Given the description of an element on the screen output the (x, y) to click on. 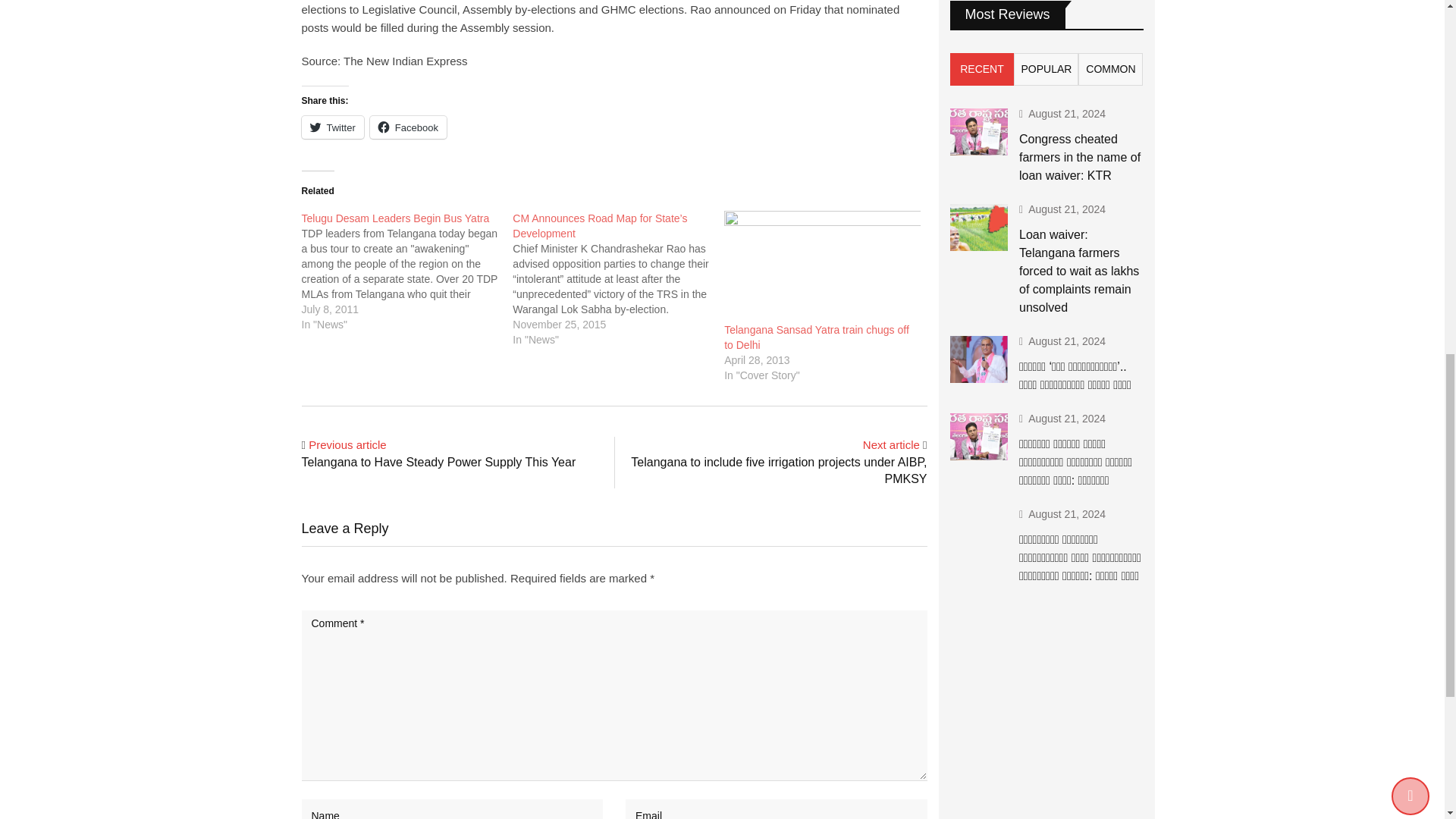
Click to share on Facebook (407, 127)
Telugu Desam Leaders Begin Bus Yatra (395, 218)
Twitter (332, 127)
Click to share on Twitter (332, 127)
Facebook (407, 127)
Telugu Desam Leaders Begin Bus Yatra (395, 218)
Telangana Sansad Yatra train chugs off to Delhi (815, 337)
Telugu Desam Leaders Begin Bus Yatra (407, 271)
Telangana Sansad Yatra train chugs off to Delhi (821, 266)
